Given the description of an element on the screen output the (x, y) to click on. 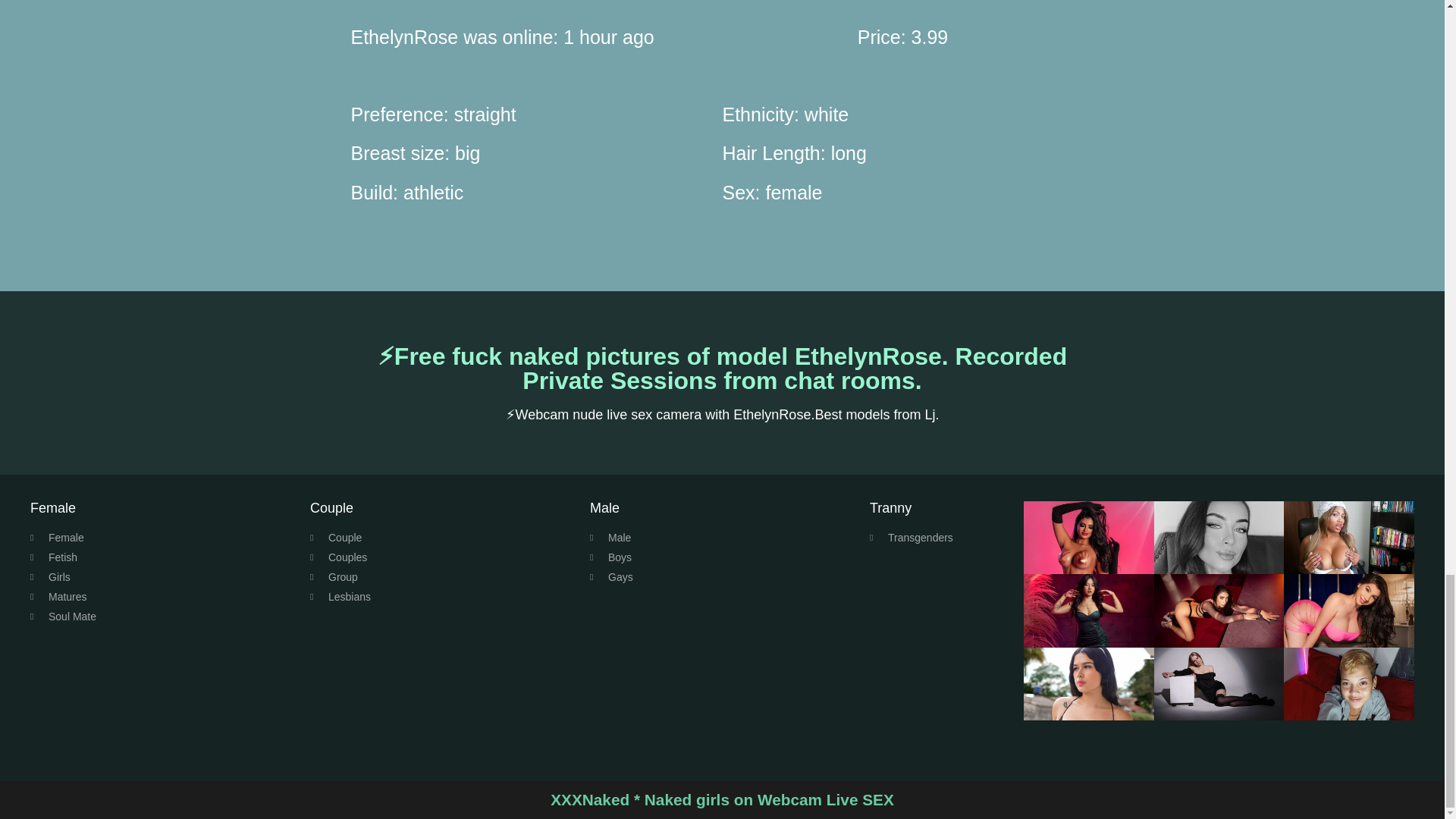
Fetish (162, 557)
Female (162, 537)
